Given the description of an element on the screen output the (x, y) to click on. 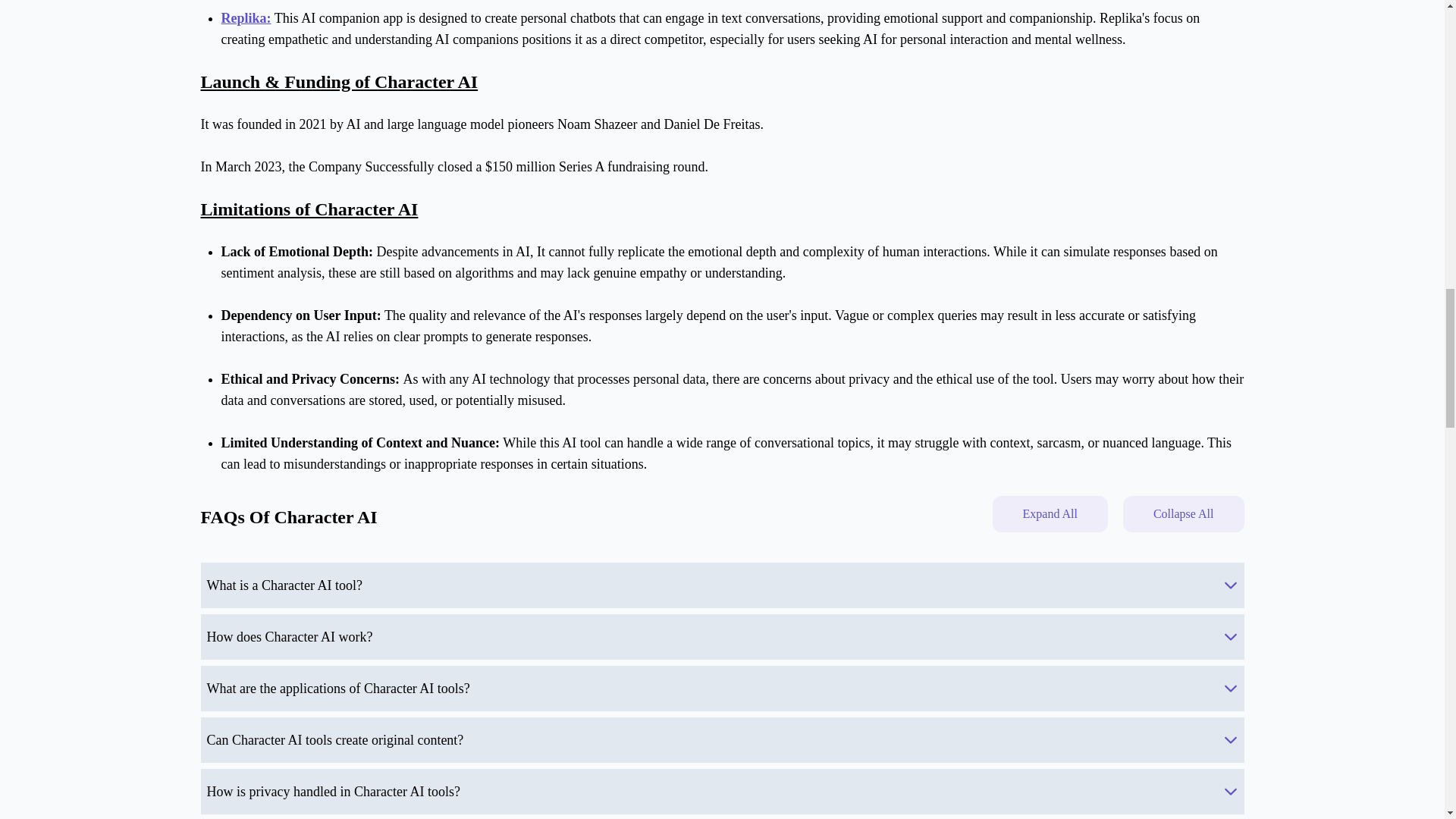
Expand All (1048, 514)
Replika: (245, 17)
Collapse All (1183, 514)
